Given the description of an element on the screen output the (x, y) to click on. 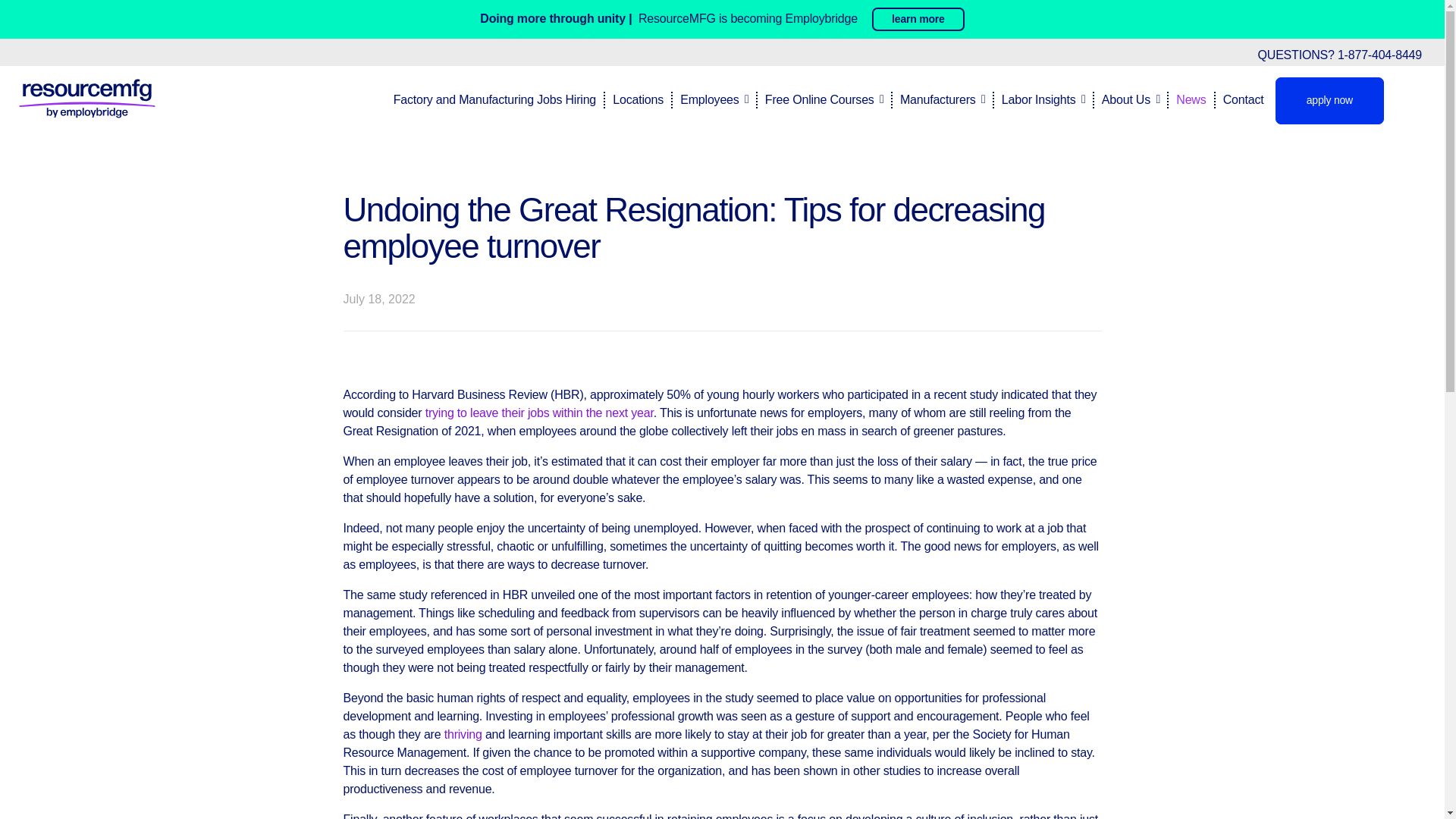
News (1186, 99)
Factory and Manufacturing Jobs Hiring (494, 99)
trying to leave their jobs within the next year (539, 412)
Manufacturers (936, 99)
Free Online Courses (817, 99)
Labor Insights (1036, 99)
apply now (1329, 99)
About Us (1124, 99)
Locations (633, 99)
Contact (1238, 99)
